Given the description of an element on the screen output the (x, y) to click on. 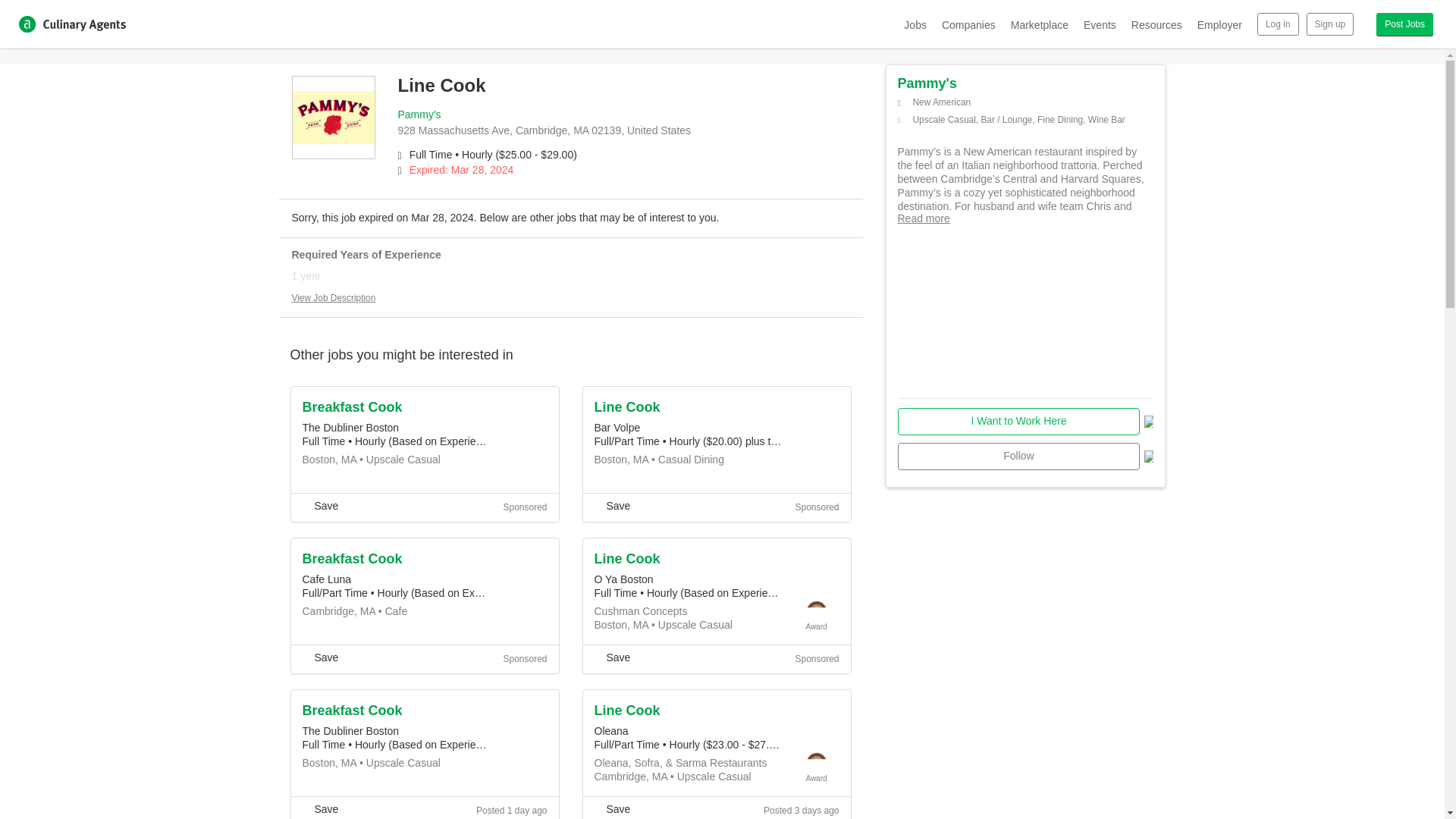
Post Jobs (1403, 24)
Save (319, 505)
Save (612, 505)
Save (612, 657)
Save (319, 808)
Save (319, 657)
Sign up (1330, 24)
Marketplace (1039, 24)
Log in (1277, 24)
Resources (1156, 24)
